Given the description of an element on the screen output the (x, y) to click on. 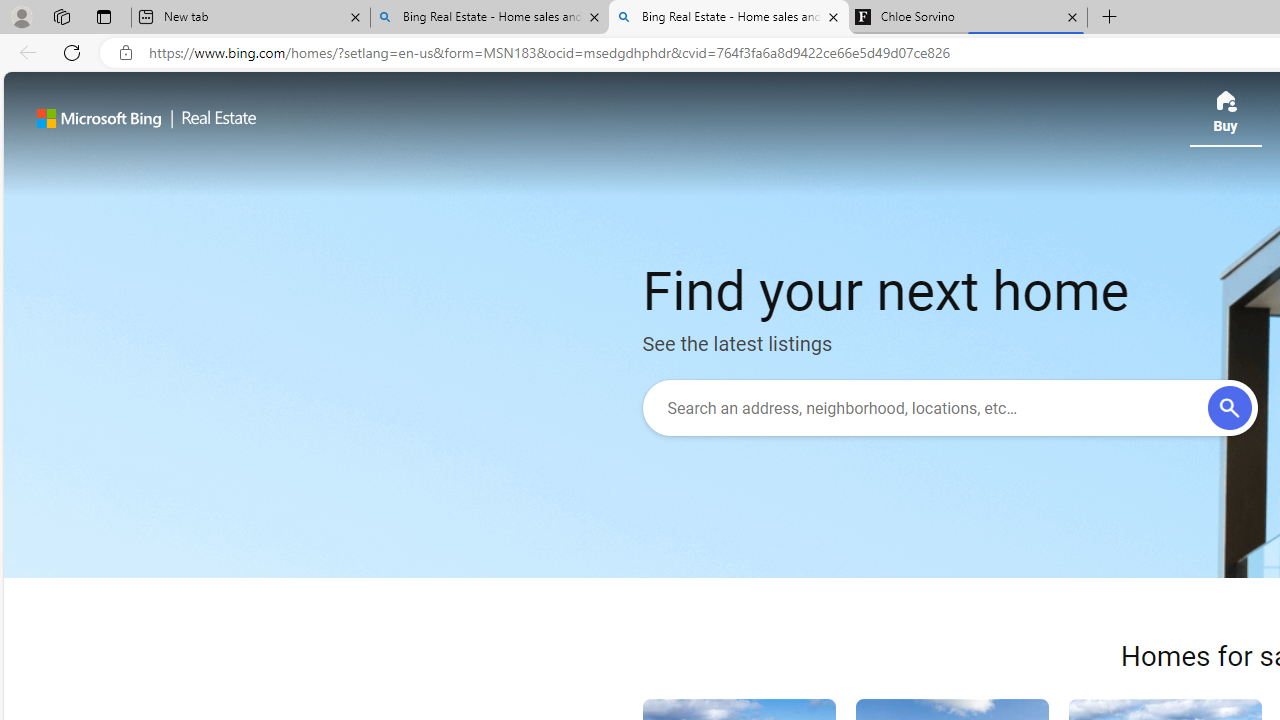
Bing Real Estate - Home sales and rental listings (729, 17)
Buy (1225, 117)
Microsoft Bing (99, 118)
Chloe Sorvino (967, 17)
